Given the description of an element on the screen output the (x, y) to click on. 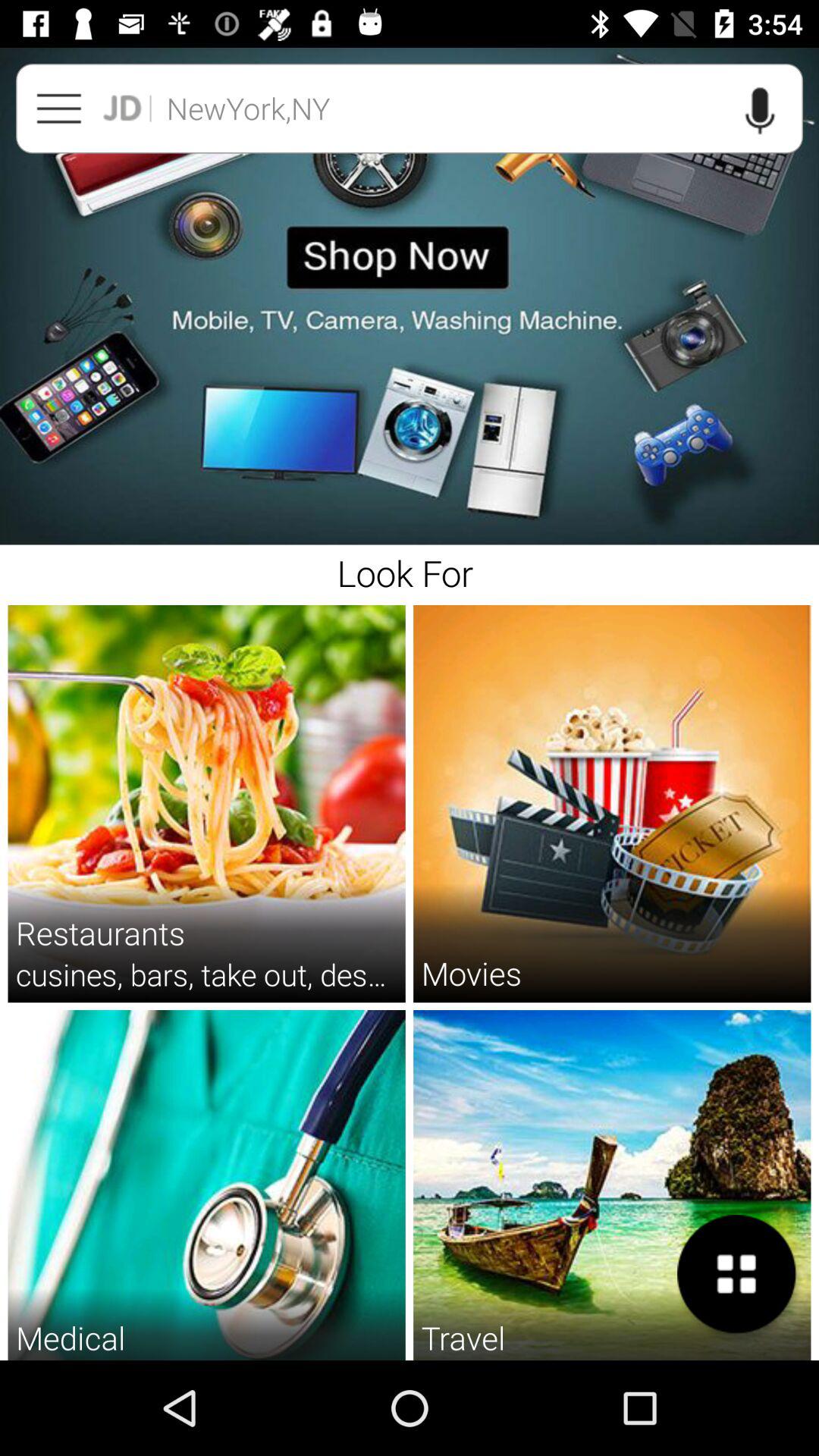
flip to medical item (70, 1337)
